Given the description of an element on the screen output the (x, y) to click on. 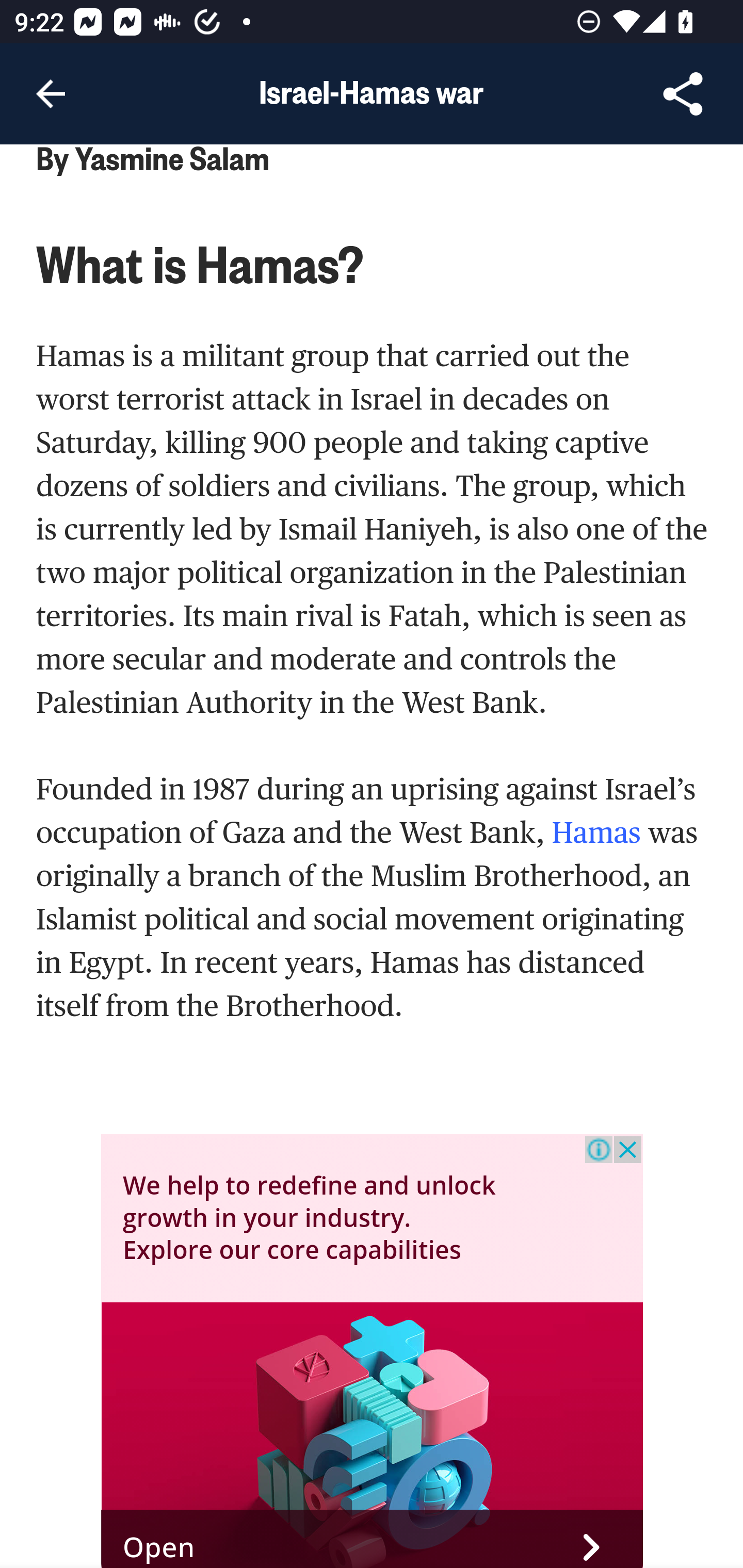
Navigate up (50, 93)
Share Article, button (683, 94)
Hamas  (598, 833)
Open (372, 1538)
